Given the description of an element on the screen output the (x, y) to click on. 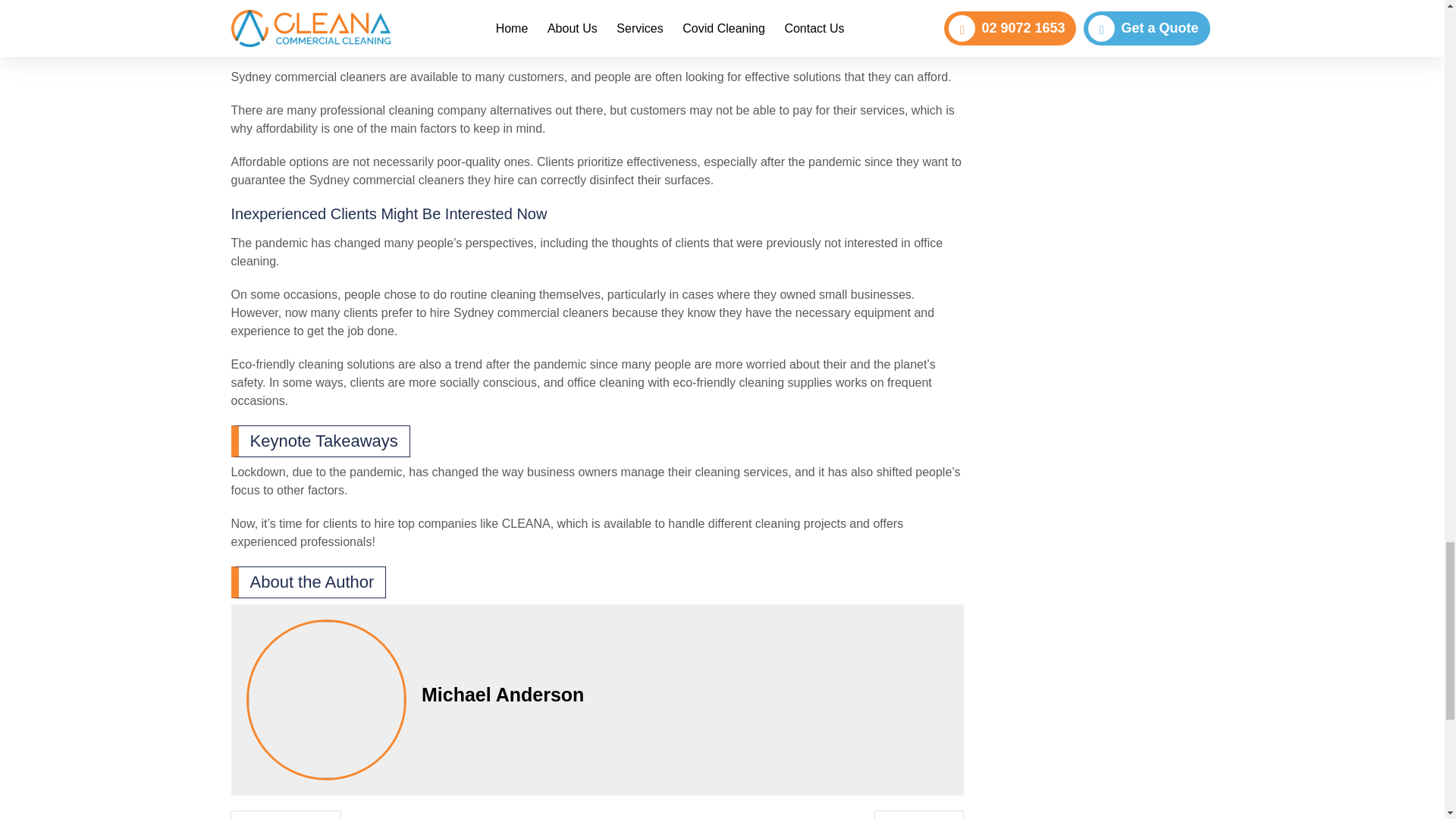
Posts by Michael Anderson (685, 694)
Michael Anderson (685, 694)
